Given the description of an element on the screen output the (x, y) to click on. 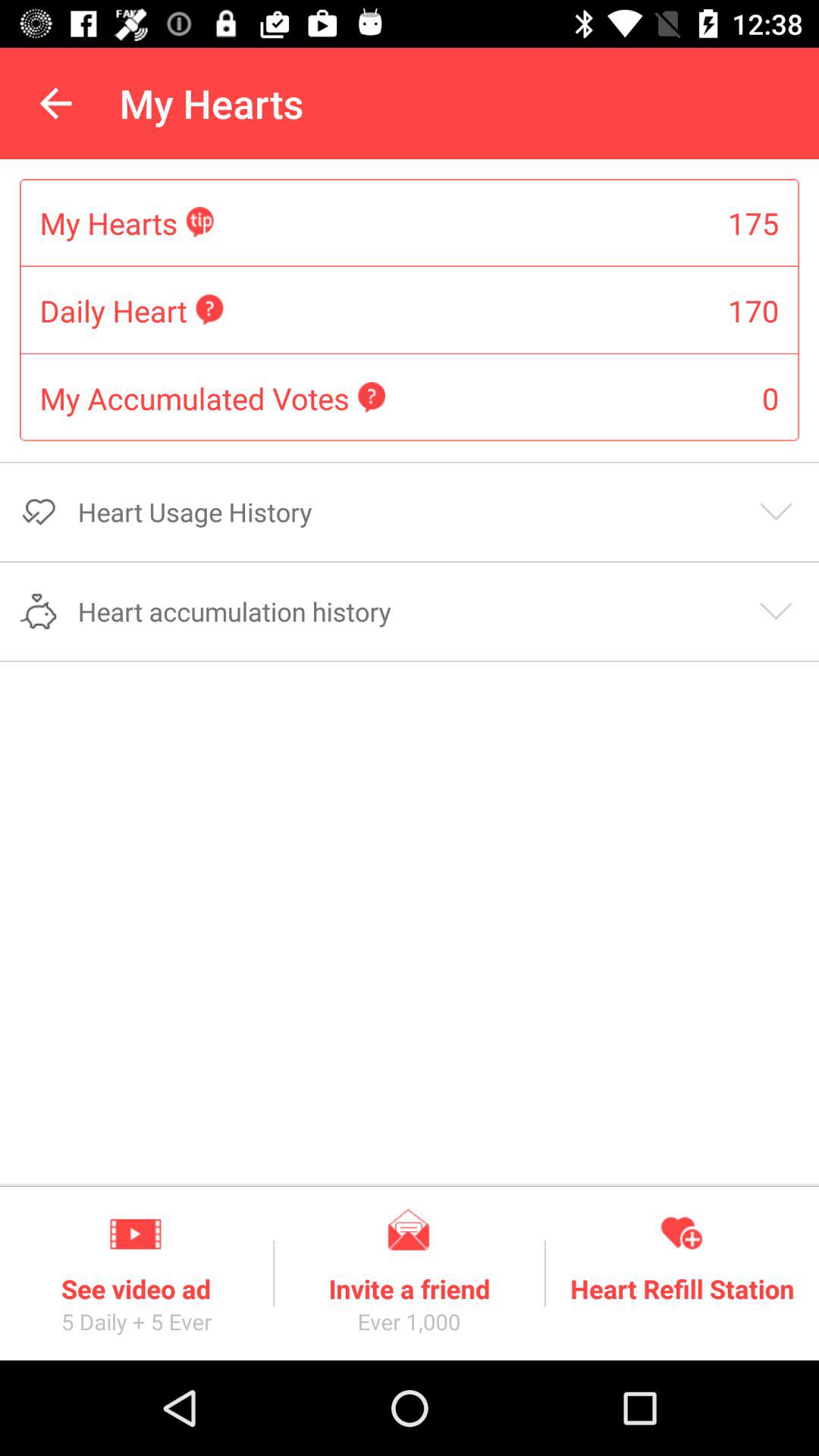
open the icon next to the my hearts app (55, 103)
